Given the description of an element on the screen output the (x, y) to click on. 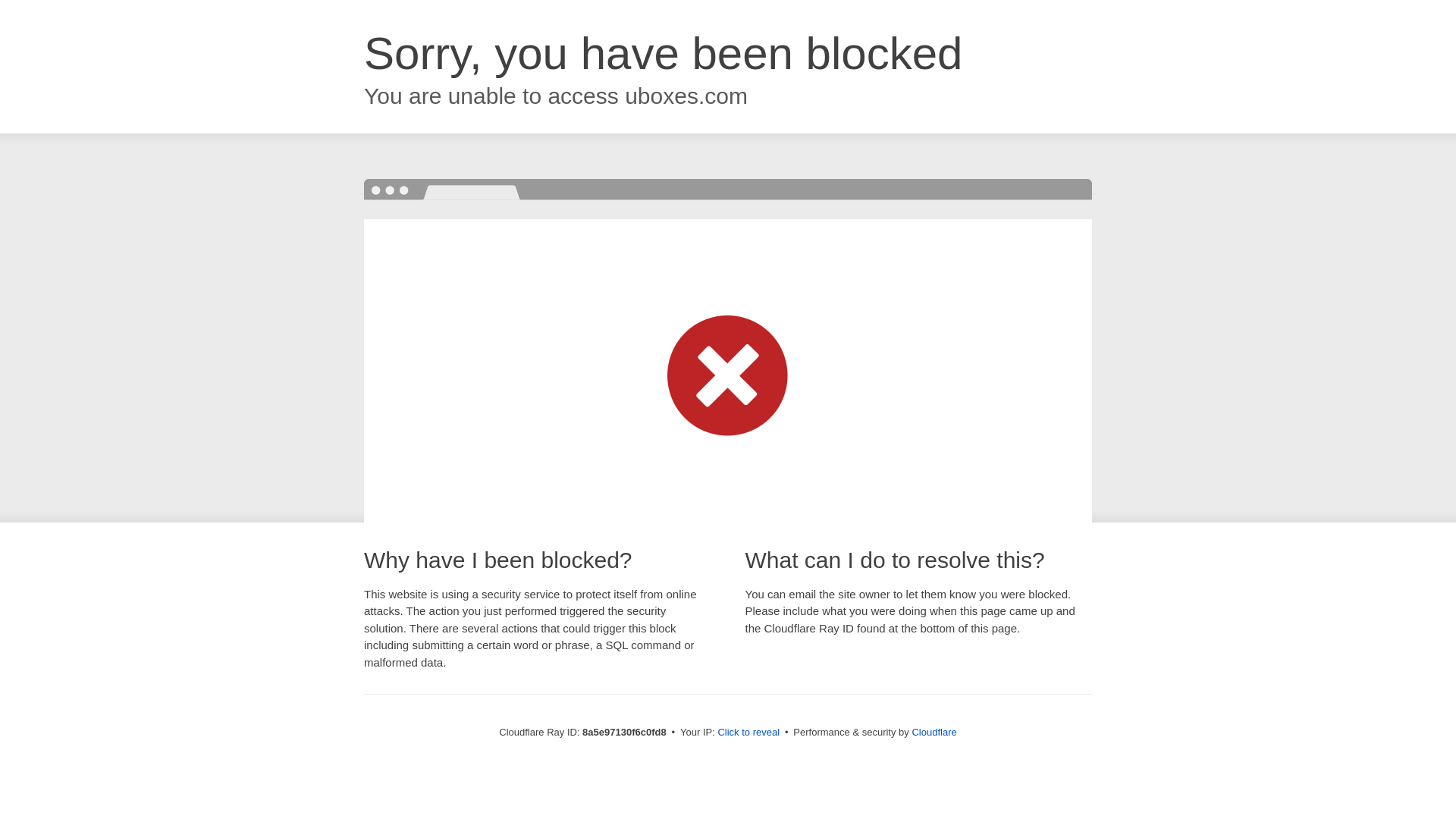
Cloudflare (933, 731)
Click to reveal (747, 732)
